Given the description of an element on the screen output the (x, y) to click on. 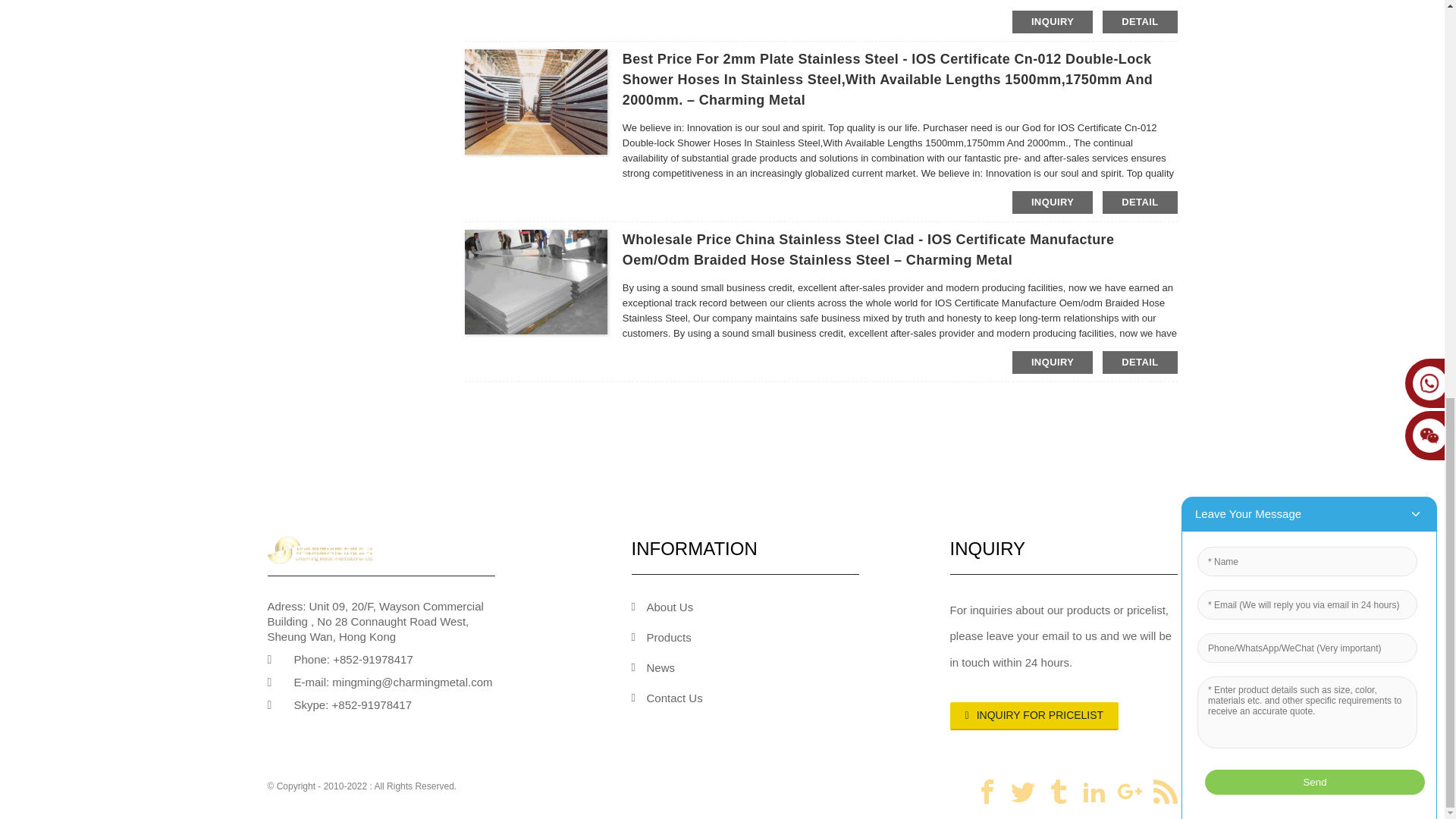
top (1412, 25)
